Given the description of an element on the screen output the (x, y) to click on. 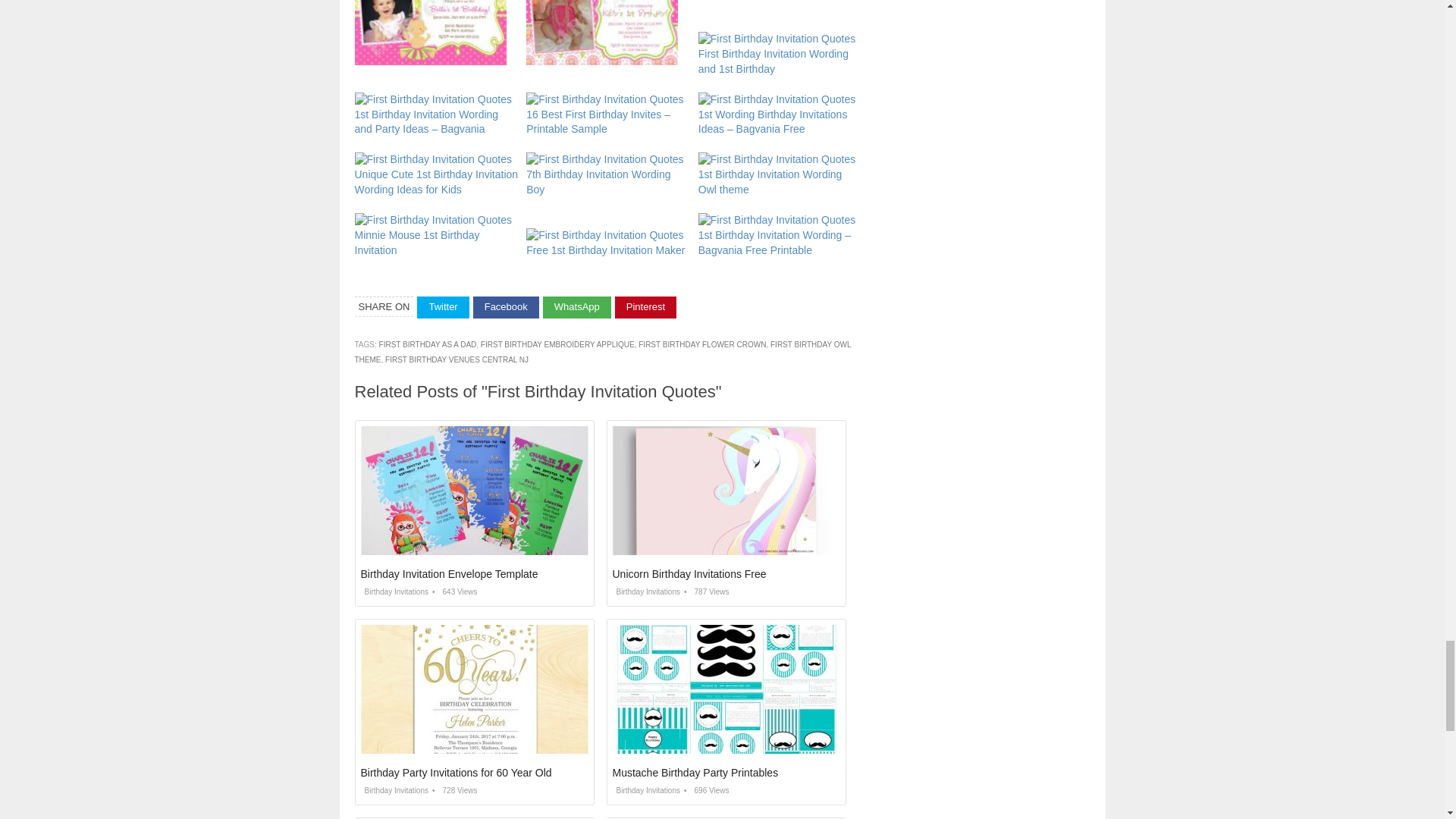
Birthday Invitations (646, 592)
Pinterest (645, 307)
FIRST BIRTHDAY FLOWER CROWN (702, 344)
Twitter (442, 307)
Birthday Invitation Envelope Template (449, 573)
FIRST BIRTHDAY AS A DAD (427, 344)
WhatsApp (577, 307)
FIRST BIRTHDAY VENUES CENTRAL NJ (456, 359)
Birthday Invitations (395, 592)
FIRST BIRTHDAY OWL THEME (603, 351)
Unicorn Birthday Invitations Free (689, 573)
Facebook (505, 307)
FIRST BIRTHDAY EMBROIDERY APPLIQUE (557, 344)
